Given the description of an element on the screen output the (x, y) to click on. 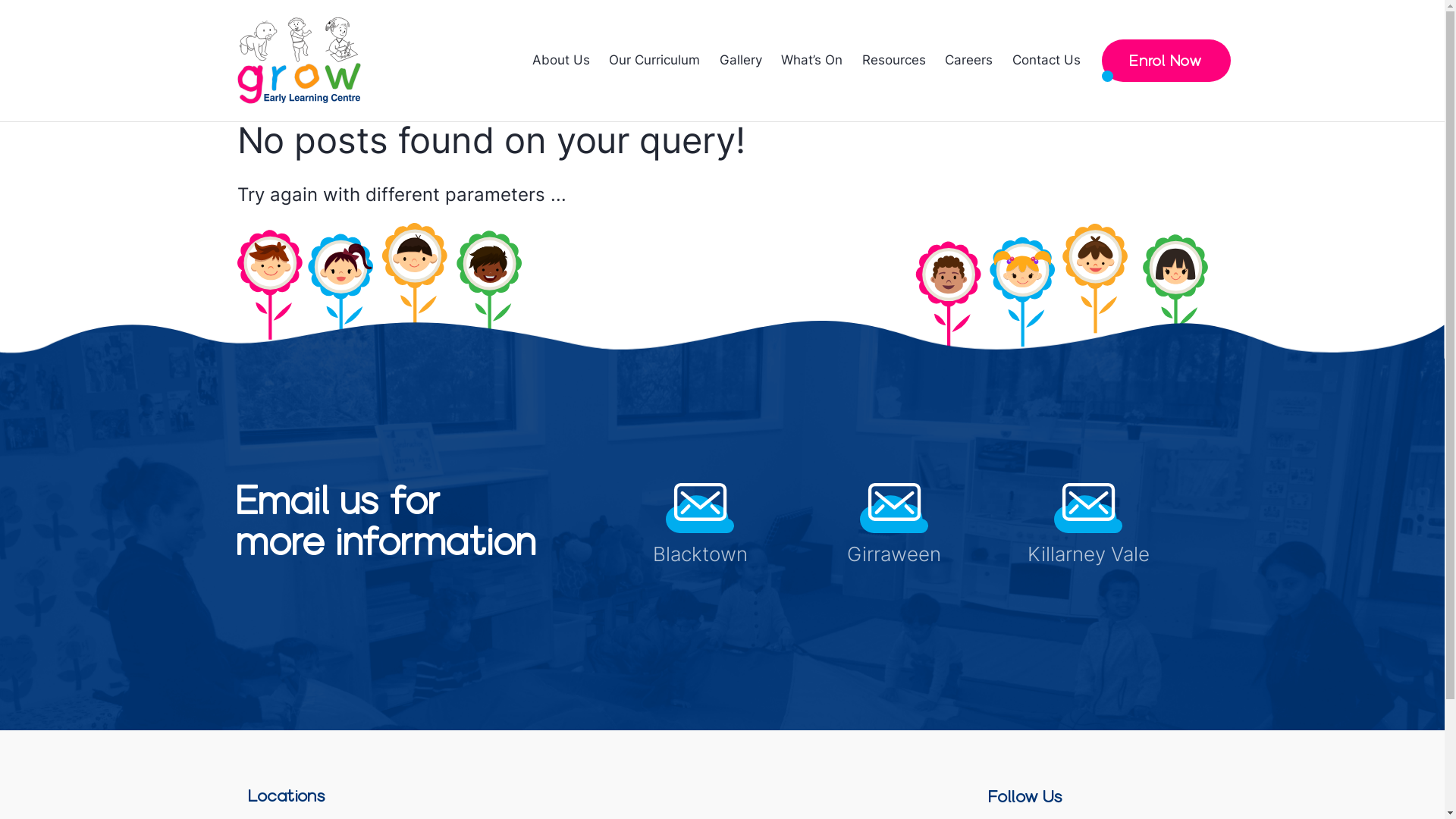
Enrol Now Element type: text (1165, 60)
Killarney Vale Element type: text (1088, 556)
Resources Element type: text (893, 60)
Girraween Element type: text (894, 556)
Blacktown Element type: text (699, 556)
About Us Element type: text (560, 60)
Careers Element type: text (969, 60)
Contact Us Element type: text (1046, 60)
Our Curriculum Element type: text (654, 60)
Gallery Element type: text (740, 60)
